Given the description of an element on the screen output the (x, y) to click on. 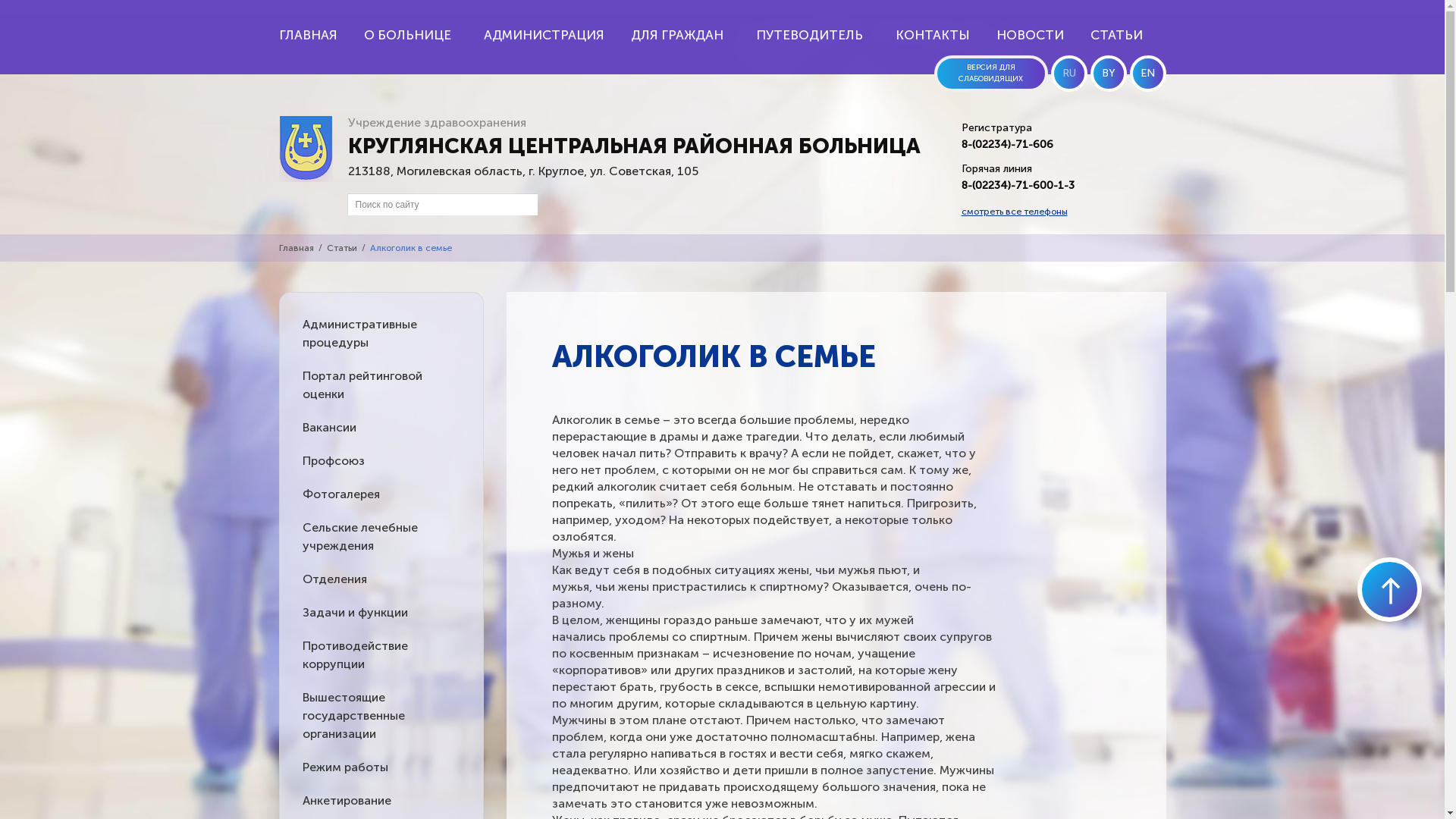
8-(02234)-71-606 Element type: text (1007, 144)
EN Element type: text (1147, 73)
BY Element type: text (1108, 73)
8-(02234)-71-600-1-3 Element type: text (1017, 184)
RU Element type: text (1069, 73)
